Given the description of an element on the screen output the (x, y) to click on. 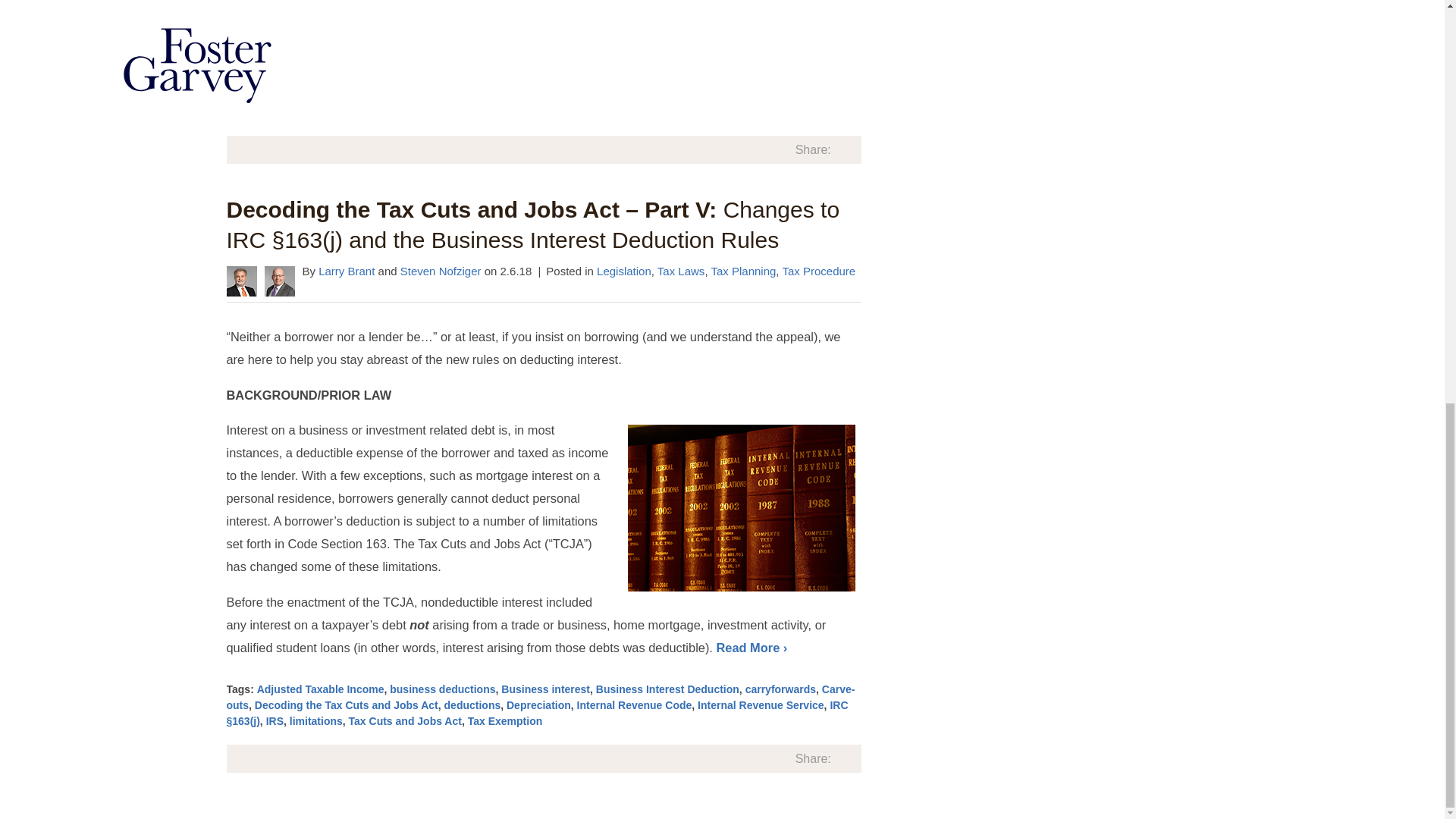
Adjusted Taxable Income (320, 689)
deductions (498, 96)
Washington legislature (375, 111)
Washington state capital gains tax (619, 111)
Carve-outs (372, 96)
deductions (472, 705)
Business Interest Deduction (667, 689)
Legislation (623, 270)
business deductions (442, 689)
carryforwards (780, 689)
